Given the description of an element on the screen output the (x, y) to click on. 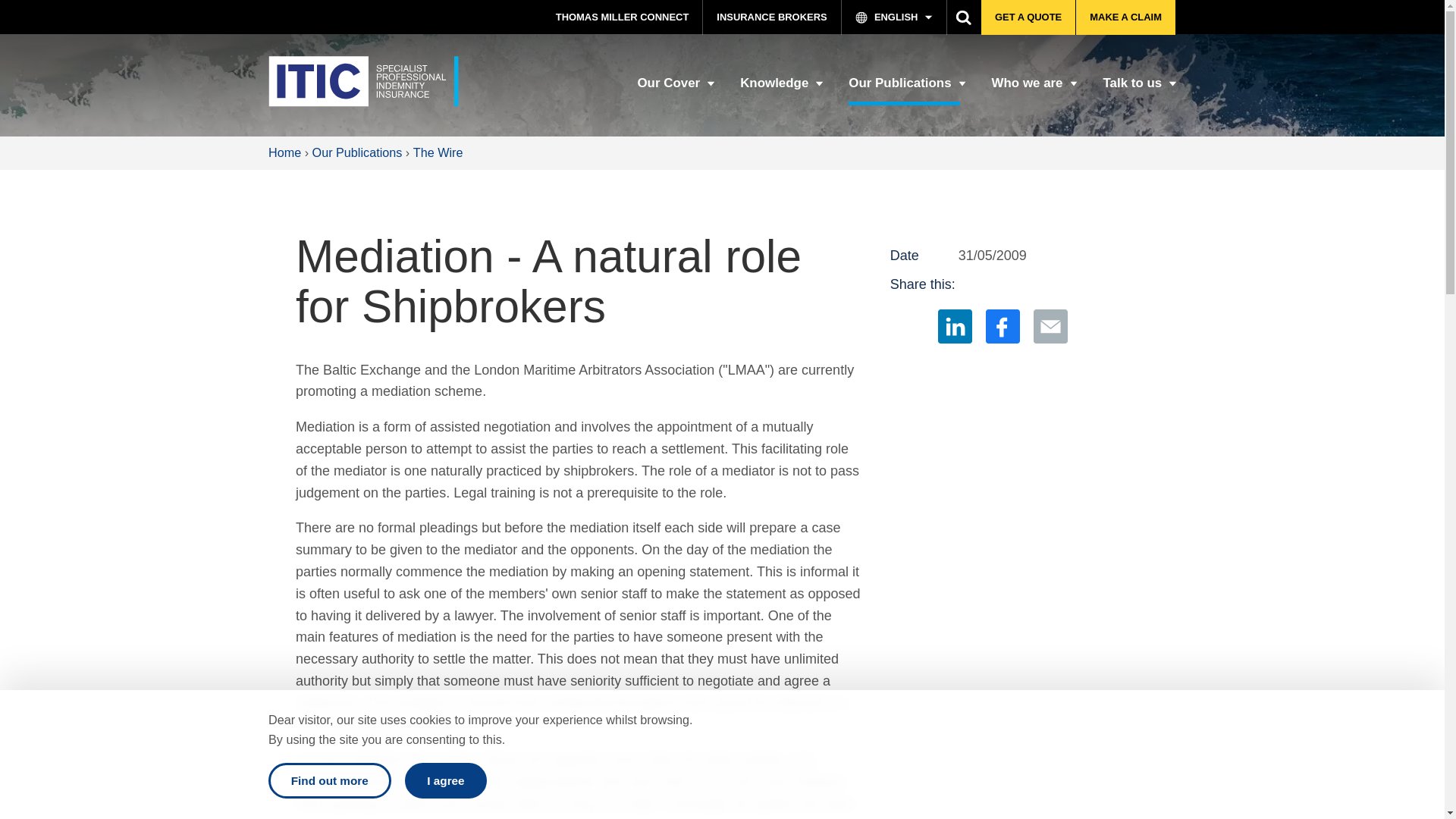
Find out more (329, 780)
THOMAS MILLER CONNECT (622, 17)
Our Cover (673, 89)
MAKE A CLAIM (1125, 17)
GET A QUOTE (1028, 17)
ENGLISH (894, 17)
Thomas Miller Connect (622, 17)
INSURANCE BROKERS (772, 17)
Insurance Brokers (772, 17)
I agree (445, 780)
Search (964, 17)
